Given the description of an element on the screen output the (x, y) to click on. 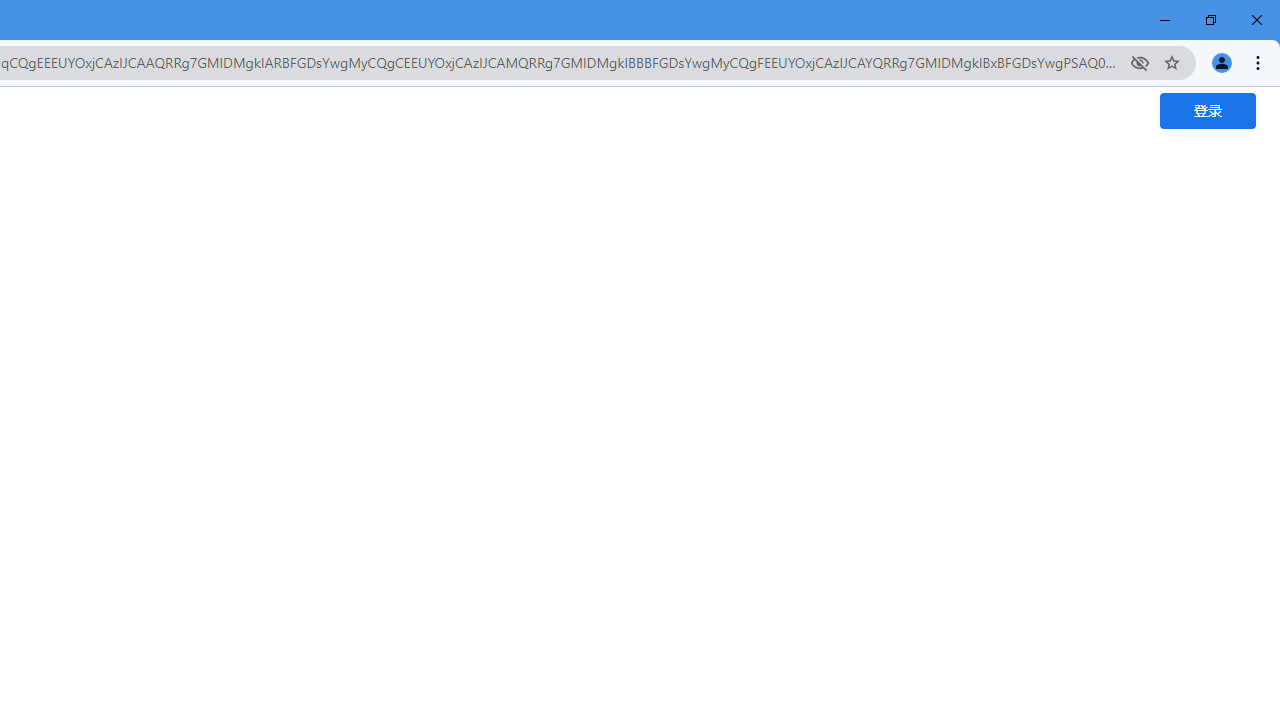
Third-party cookies blocked (1139, 62)
